Given the description of an element on the screen output the (x, y) to click on. 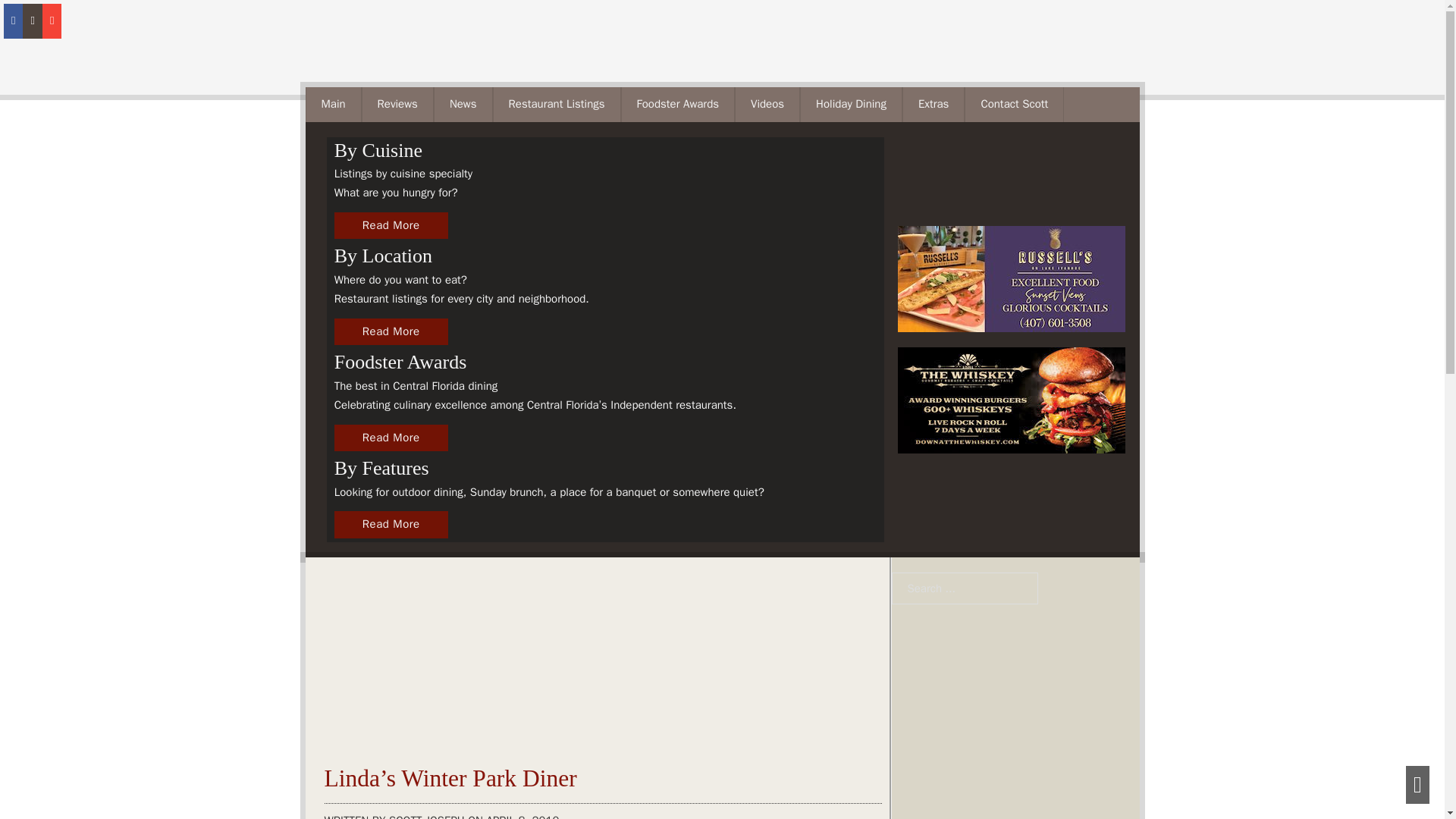
Linda's Winter Park Diner (384, 676)
Restaurant Listings By Location (391, 357)
